Given the description of an element on the screen output the (x, y) to click on. 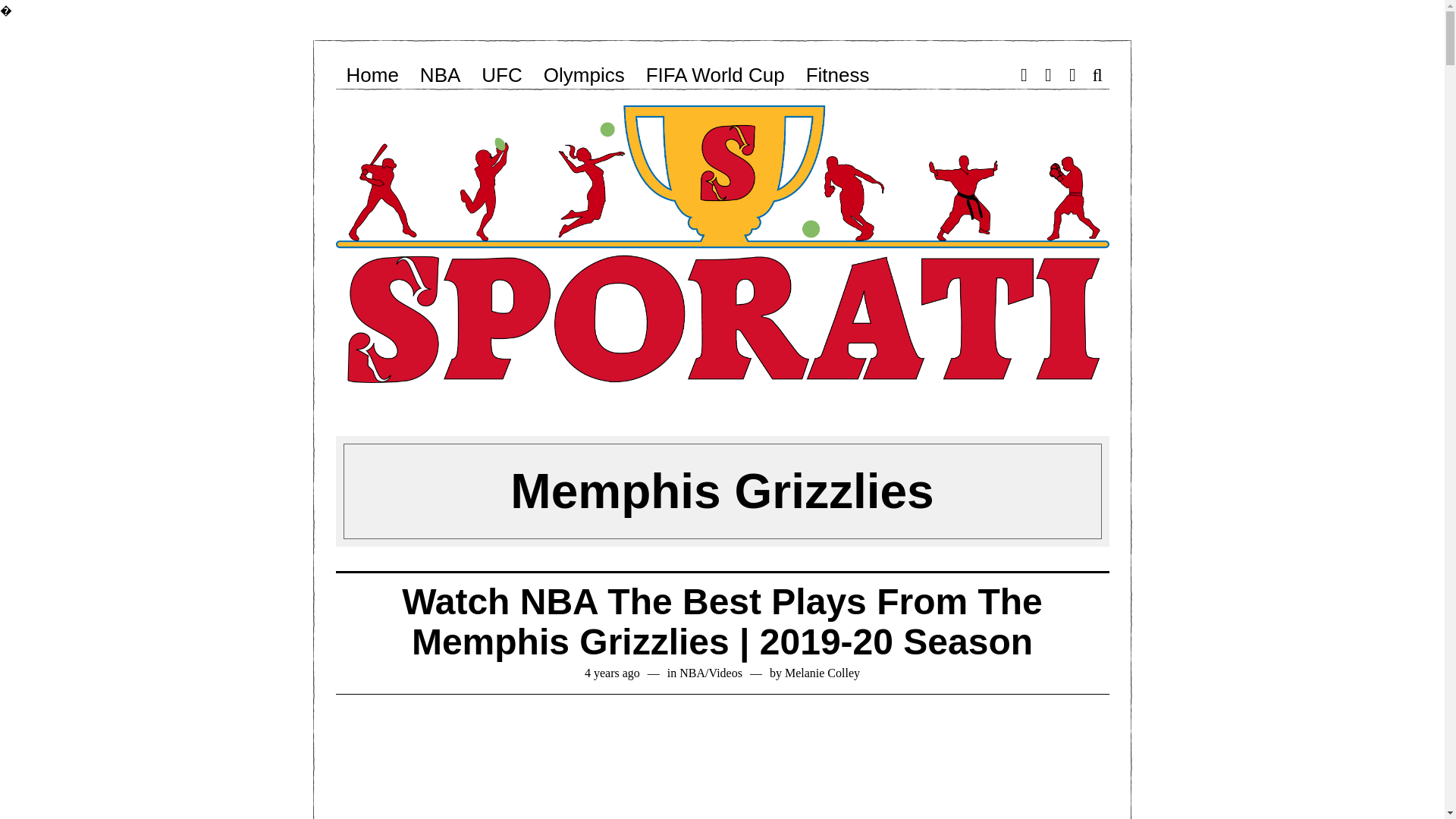
Videos (725, 672)
UFC (501, 74)
Olympics (583, 74)
NBA (691, 672)
Melanie Colley (822, 672)
Fitness (837, 74)
Home (371, 74)
FIFA World Cup (714, 74)
NBA (439, 74)
